Given the description of an element on the screen output the (x, y) to click on. 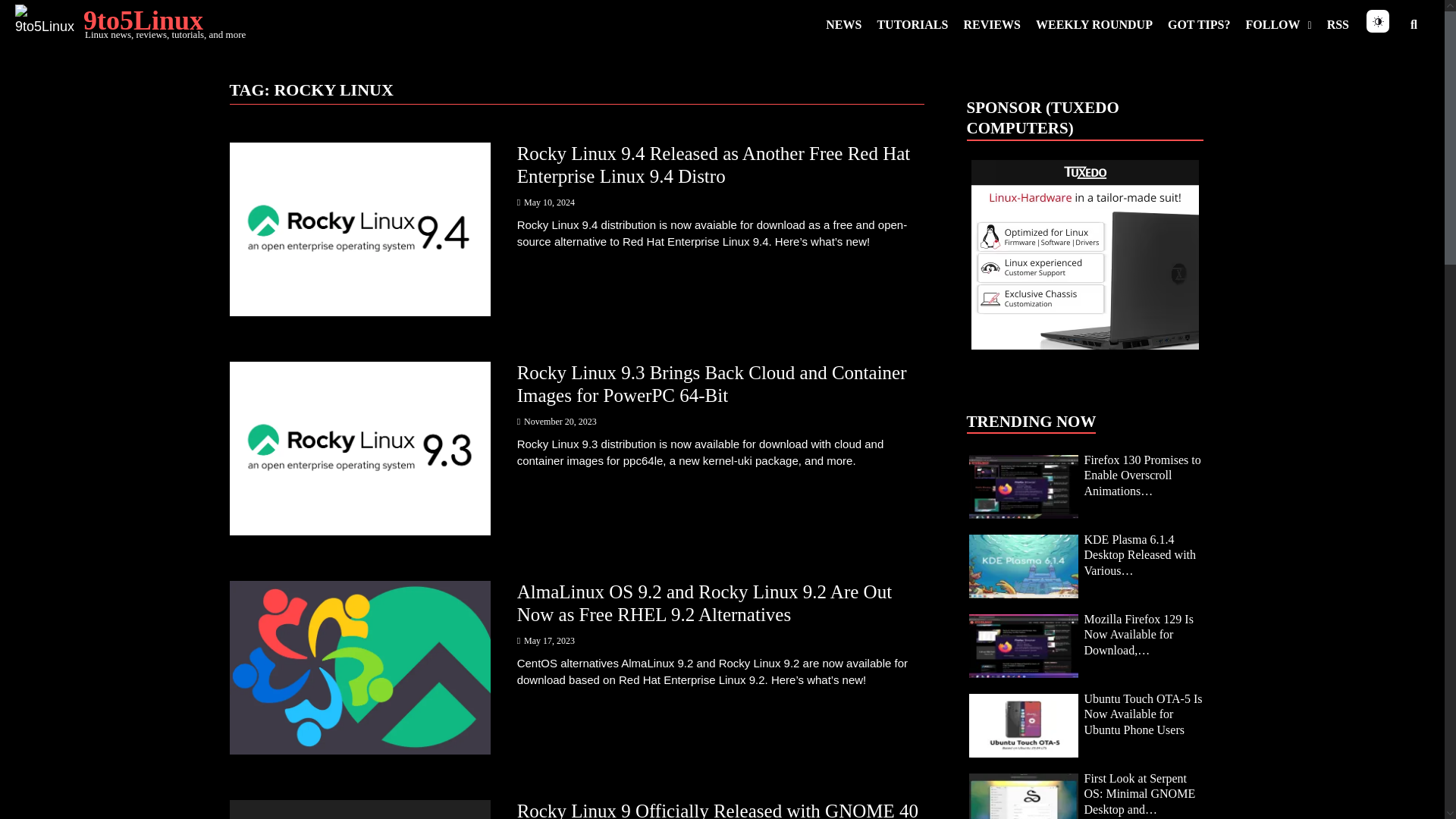
FOLLOW (1278, 24)
9to5Linux (142, 20)
GOT TIPS? (1199, 24)
REVIEWS (991, 24)
WEEKLY ROUNDUP (1093, 24)
Linux-powered laptops by TUXEDO Computers (1084, 254)
